Given the description of an element on the screen output the (x, y) to click on. 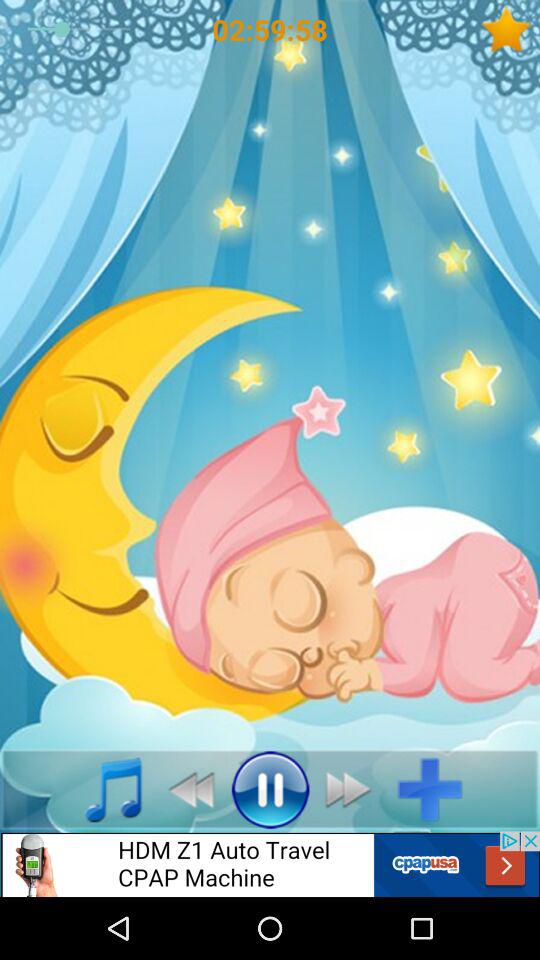
play next (353, 789)
